Given the description of an element on the screen output the (x, y) to click on. 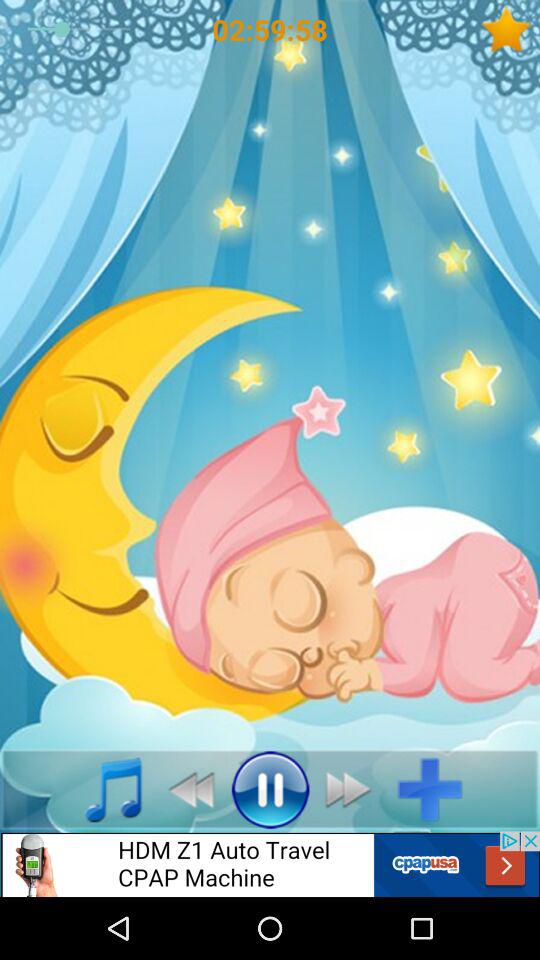
play next (353, 789)
